Given the description of an element on the screen output the (x, y) to click on. 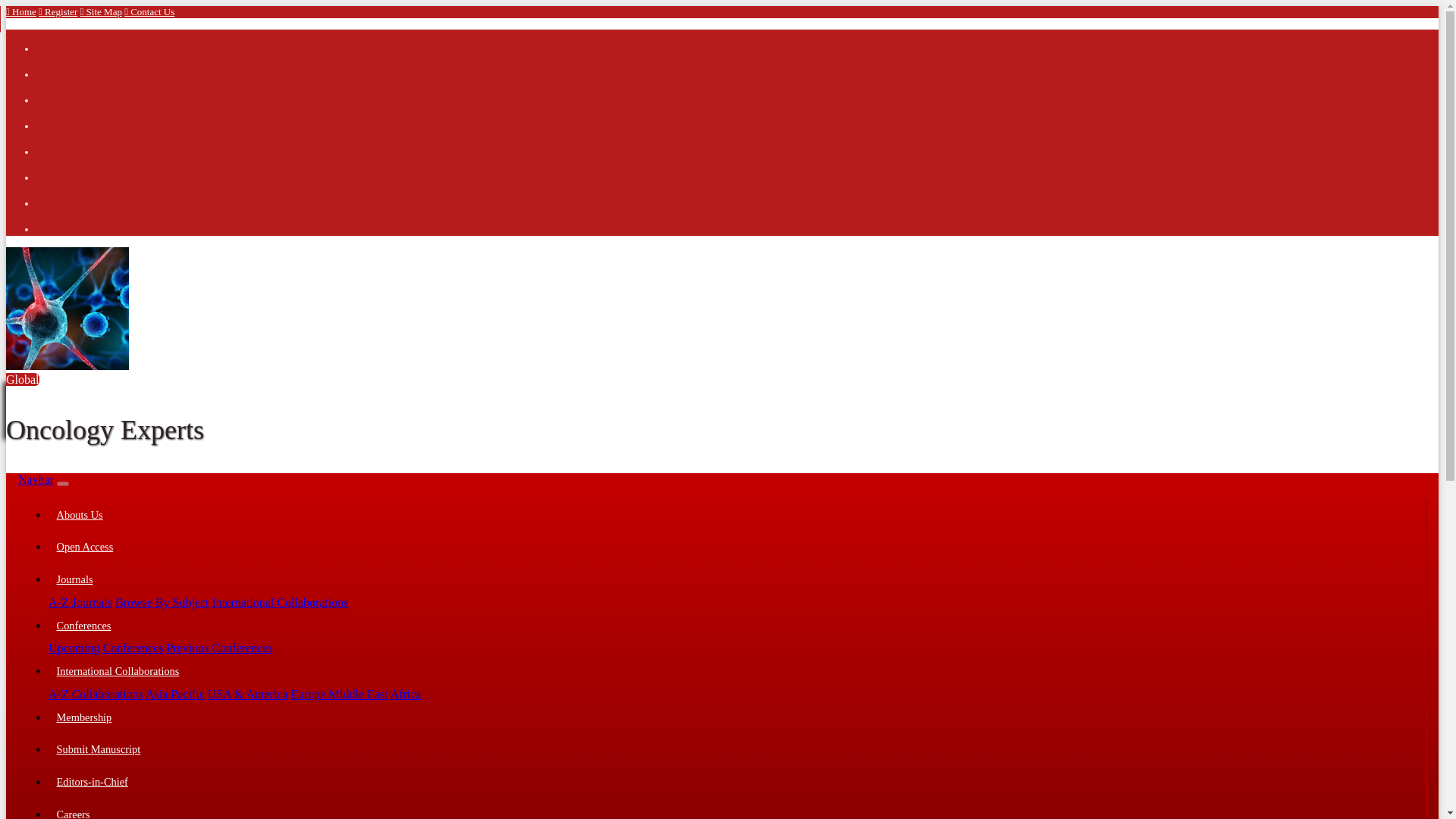
Careers (736, 808)
RSS (47, 143)
Previous Conferences (220, 647)
Site Map (101, 11)
A-Z Journals (80, 602)
Editors-in-Chief (736, 781)
Linkedin (47, 92)
Open Access (736, 547)
Abouts Us (736, 514)
Browse By Subject (162, 602)
A-Z Collaborations (95, 694)
Abouts Us (736, 514)
Contact Us (148, 11)
Slideshare (47, 195)
Journals (736, 579)
